Given the description of an element on the screen output the (x, y) to click on. 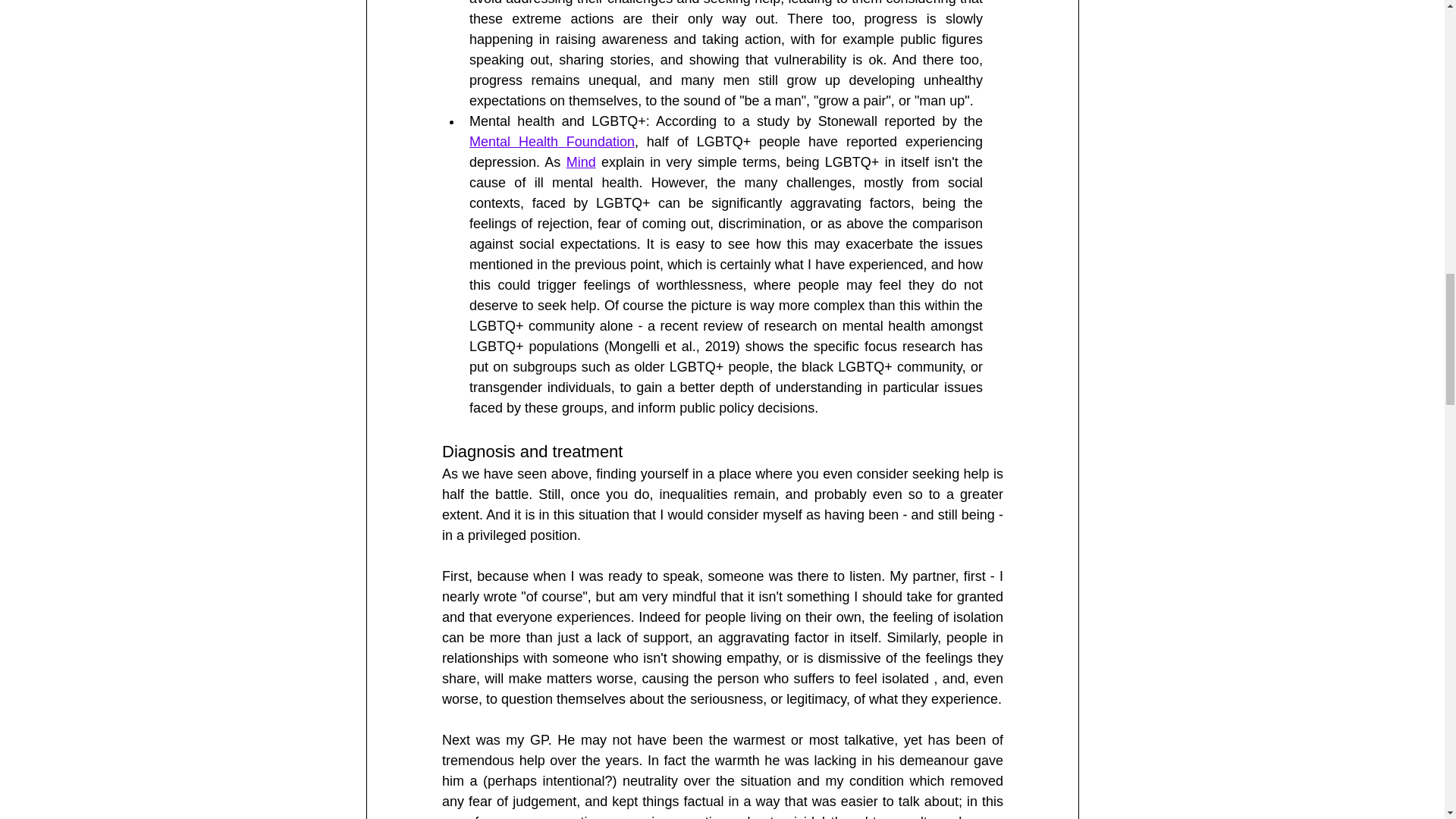
Mental Health Foundation (550, 141)
Mind (580, 161)
